Given the description of an element on the screen output the (x, y) to click on. 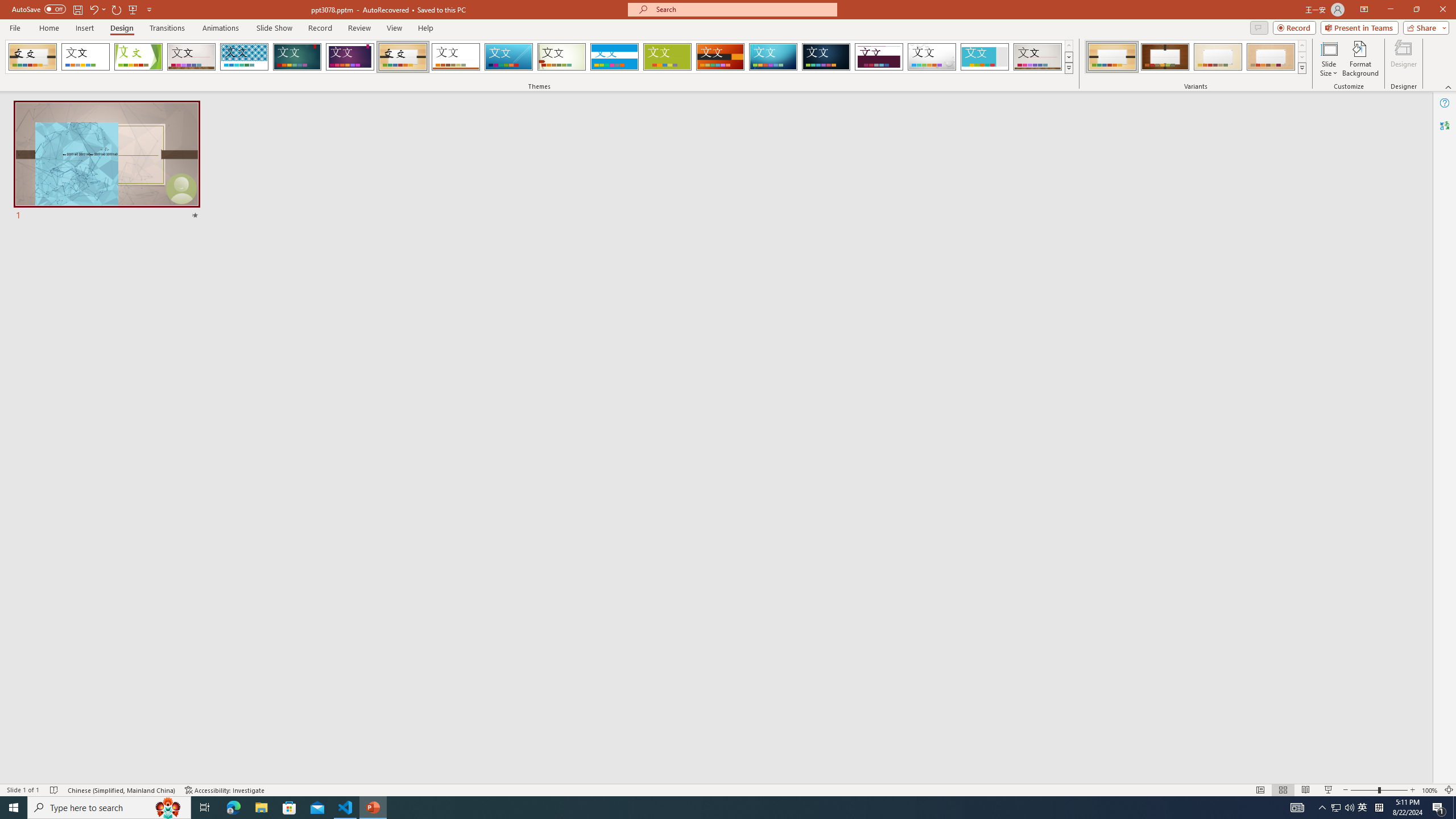
Organic (403, 56)
Ion Boardroom (350, 56)
AutomationID: ThemeVariantsGallery (1195, 56)
